Given the description of an element on the screen output the (x, y) to click on. 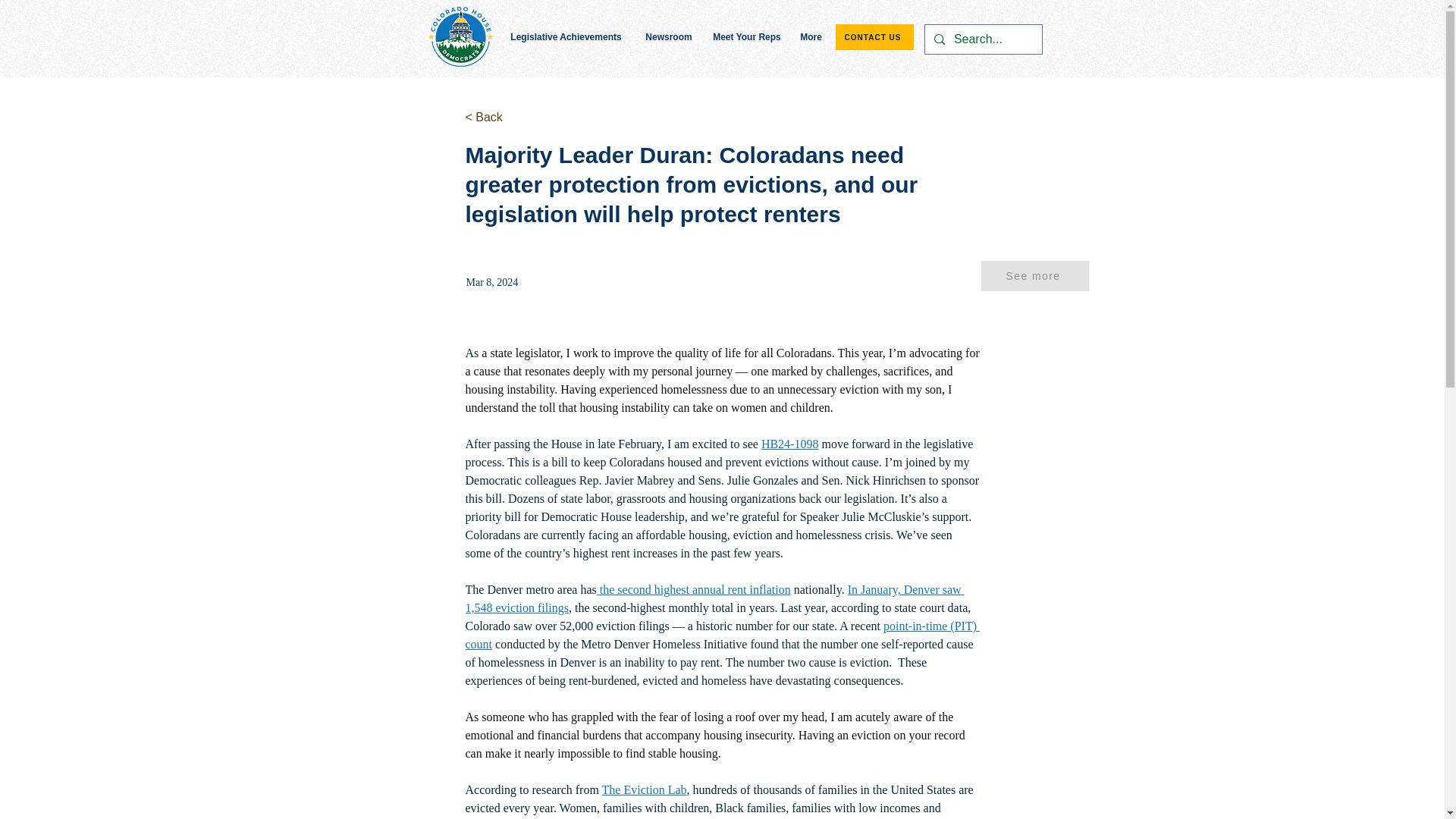
Meet Your Reps (745, 37)
HB24-1098 (789, 443)
CONTACT US (874, 36)
Legislative Achievements (565, 37)
In January, Denver saw 1,548 eviction filings (714, 598)
The Eviction Lab (644, 789)
See more (1035, 276)
 the second highest annual rent inflation (693, 589)
Newsroom (668, 37)
